Given the description of an element on the screen output the (x, y) to click on. 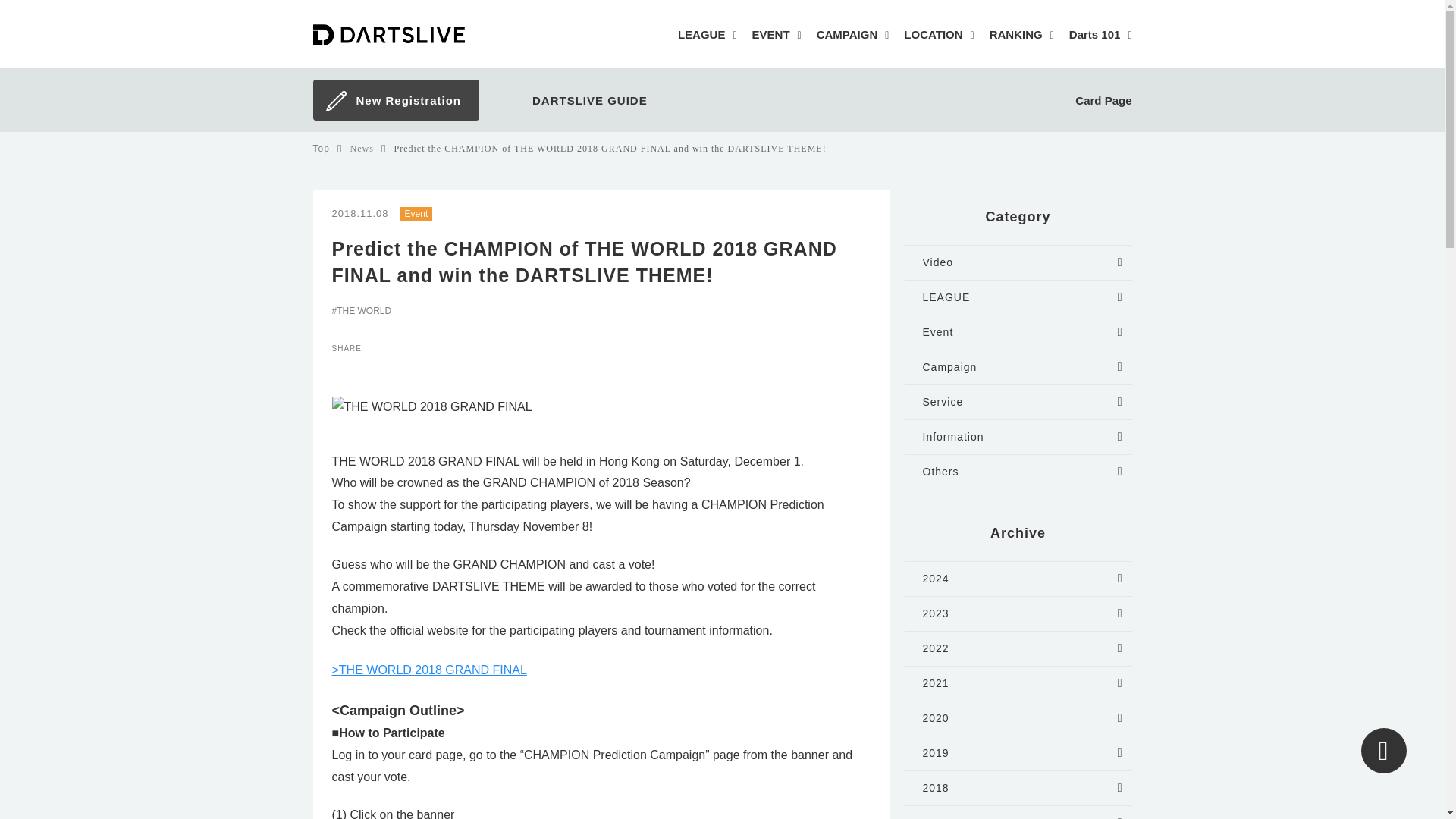
Card Page (1083, 101)
News (362, 148)
LEAGUE (707, 35)
New Registration (393, 100)
DARTSLIVE (413, 34)
CAMPAIGN (852, 35)
Event (416, 213)
DARTSLIVE GUIDE (573, 100)
Darts 101 (1100, 35)
RANKING (1022, 35)
Top (321, 148)
LOCATION (939, 35)
